Given the description of an element on the screen output the (x, y) to click on. 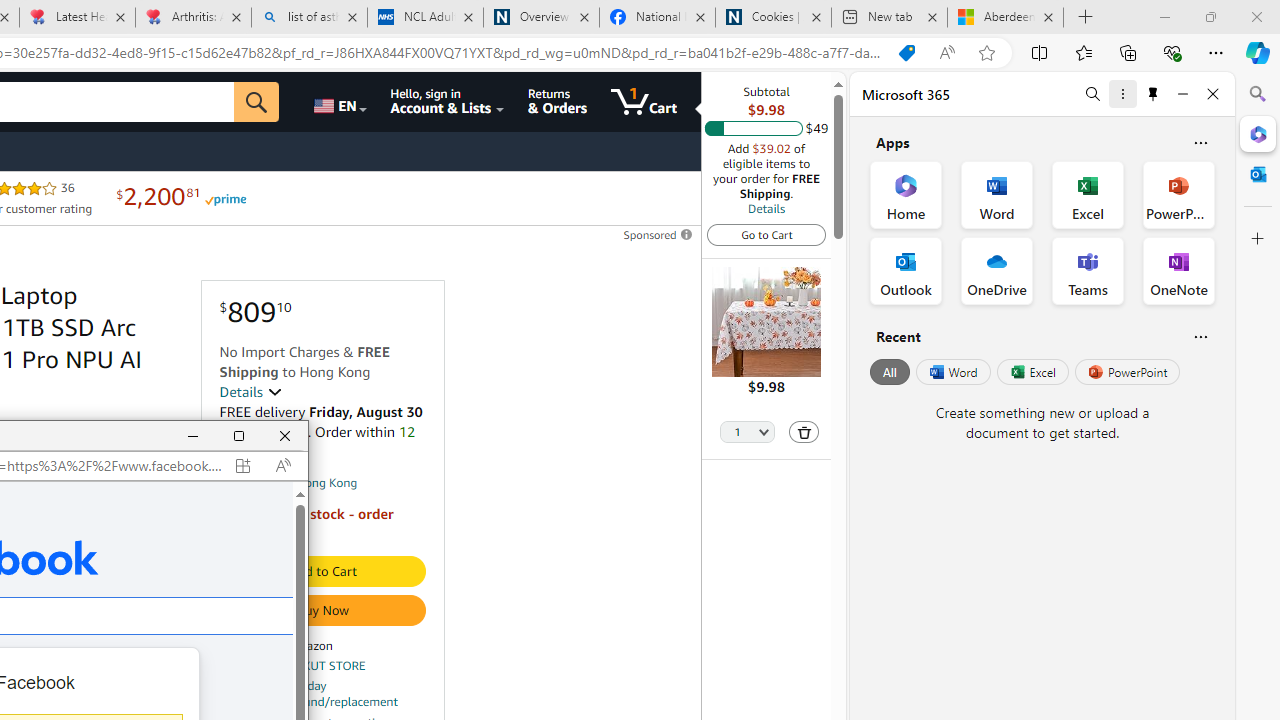
OneNote Office App (1178, 270)
Quantity Selector (747, 433)
PowerPoint (1127, 372)
Hello, sign in Account & Lists (447, 101)
Home Office App (906, 194)
Word Office App (996, 194)
Prime (224, 198)
Go (257, 101)
Details  (250, 391)
Aberdeen, Hong Kong SAR hourly forecast | Microsoft Weather (1005, 17)
